Given the description of an element on the screen output the (x, y) to click on. 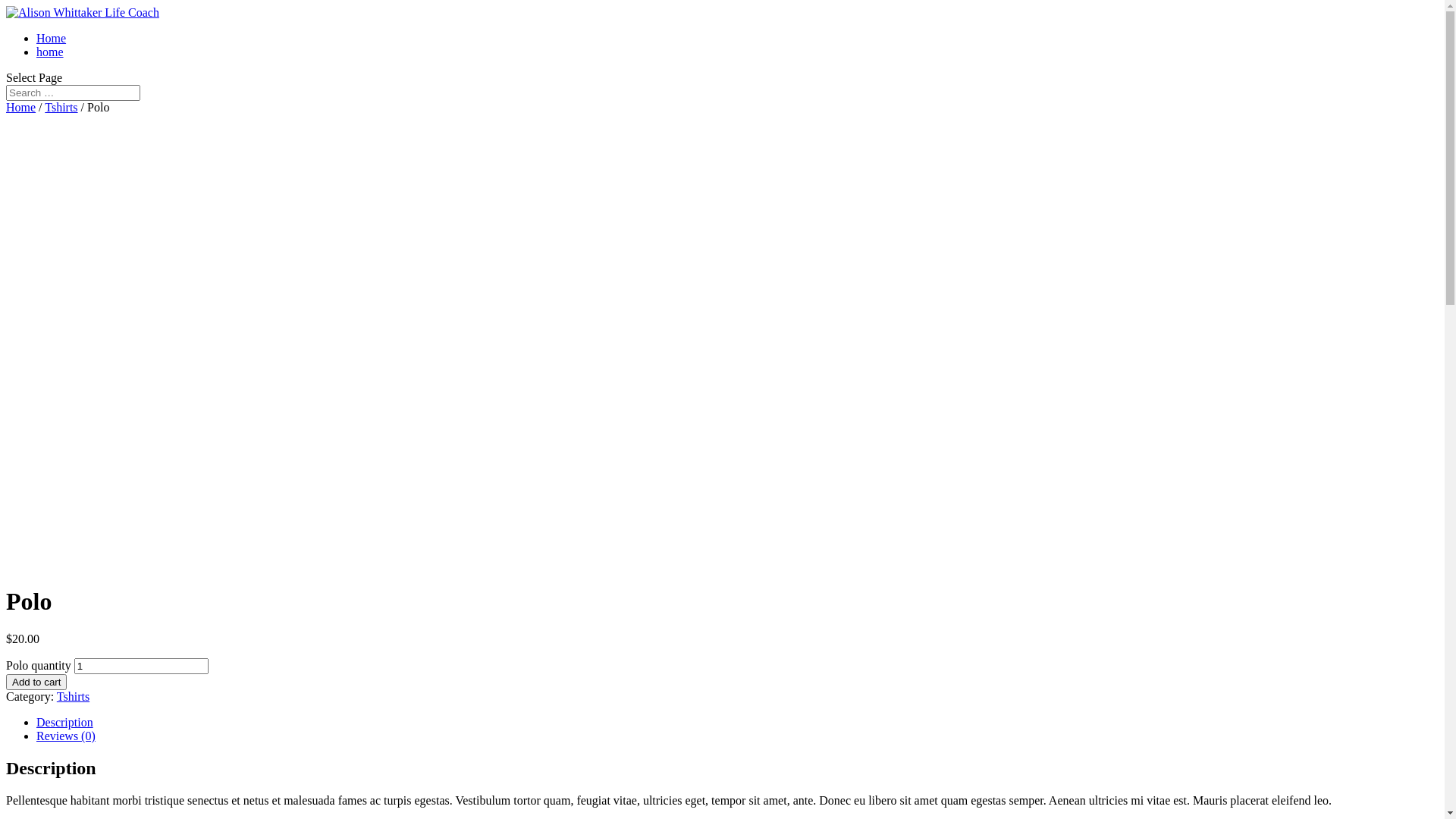
Tshirts Element type: text (60, 106)
Description Element type: text (64, 721)
Home Element type: text (50, 37)
home Element type: text (49, 51)
Tshirts Element type: text (72, 696)
Add to cart Element type: text (36, 682)
Home Element type: text (20, 106)
Search for: Element type: hover (73, 92)
Reviews (0) Element type: text (65, 735)
